Given the description of an element on the screen output the (x, y) to click on. 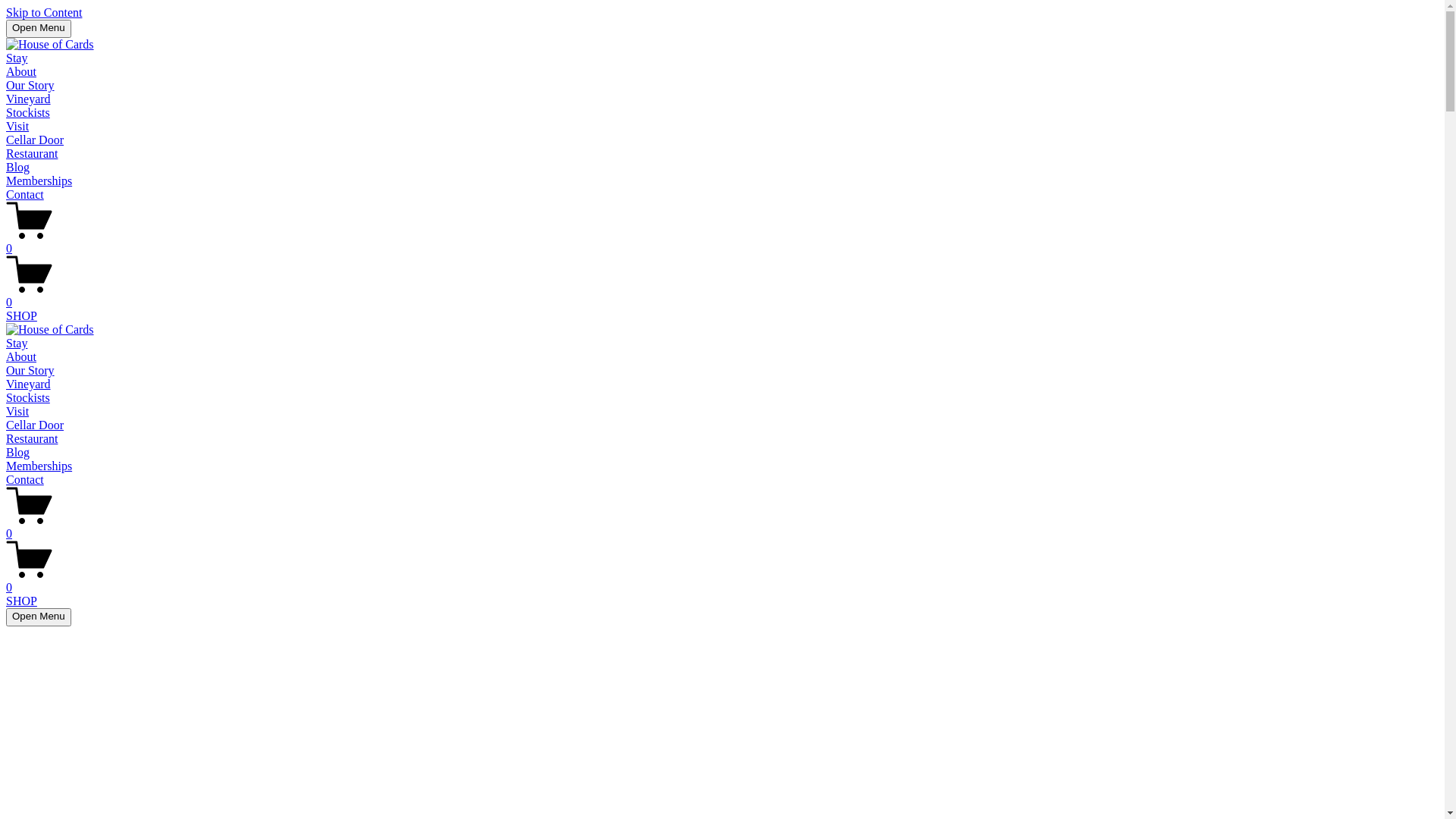
Blog Element type: text (17, 166)
Our Story Element type: text (30, 370)
SHOP Element type: text (21, 315)
Contact Element type: text (24, 194)
Visit Element type: text (17, 125)
Skip to Content Element type: text (43, 12)
Vineyard Element type: text (28, 383)
Cellar Door Element type: text (34, 424)
Stockists Element type: text (28, 397)
Restaurant Element type: text (31, 153)
Visit Element type: text (17, 410)
Restaurant Element type: text (31, 438)
0 Element type: text (722, 526)
0 Element type: text (722, 295)
Blog Element type: text (17, 451)
Contact Element type: text (24, 479)
Our Story Element type: text (30, 84)
Open Menu Element type: text (38, 28)
Vineyard Element type: text (28, 98)
Stockists Element type: text (28, 112)
SHOP Element type: text (21, 600)
About Element type: text (21, 356)
Cellar Door Element type: text (34, 139)
Stay Element type: text (16, 57)
0 Element type: text (722, 241)
0 Element type: text (722, 580)
Open Menu Element type: text (38, 617)
About Element type: text (21, 71)
Memberships Element type: text (39, 465)
Memberships Element type: text (39, 180)
Stay Element type: text (16, 342)
